Given the description of an element on the screen output the (x, y) to click on. 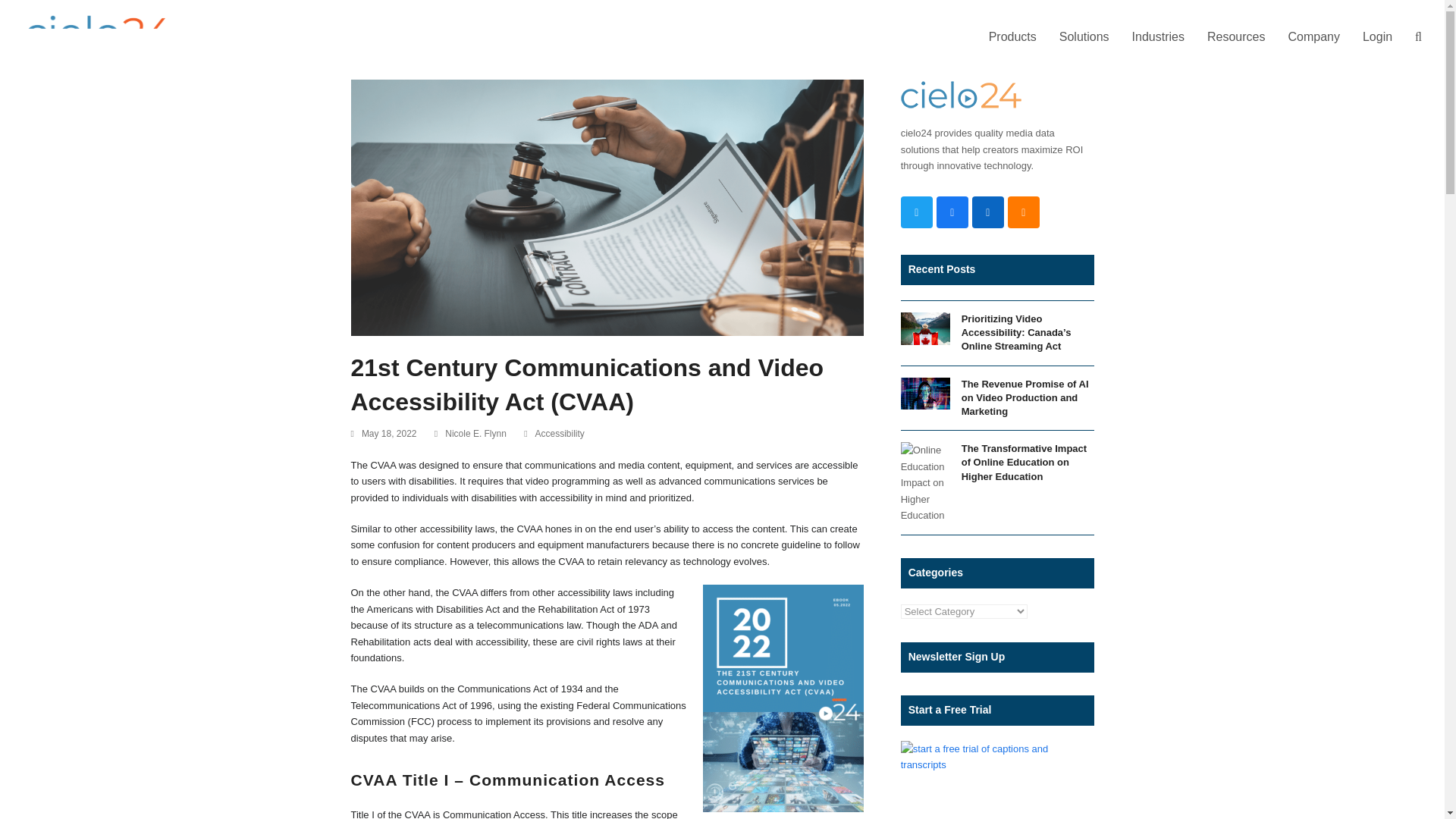
Company (1313, 37)
Resources (1235, 37)
Twitter (917, 212)
Products (1012, 37)
Products (1012, 37)
Start a Free Trial (997, 757)
Resources (1235, 37)
Company (1313, 37)
Industries (1158, 37)
Solutions (1084, 37)
